Given the description of an element on the screen output the (x, y) to click on. 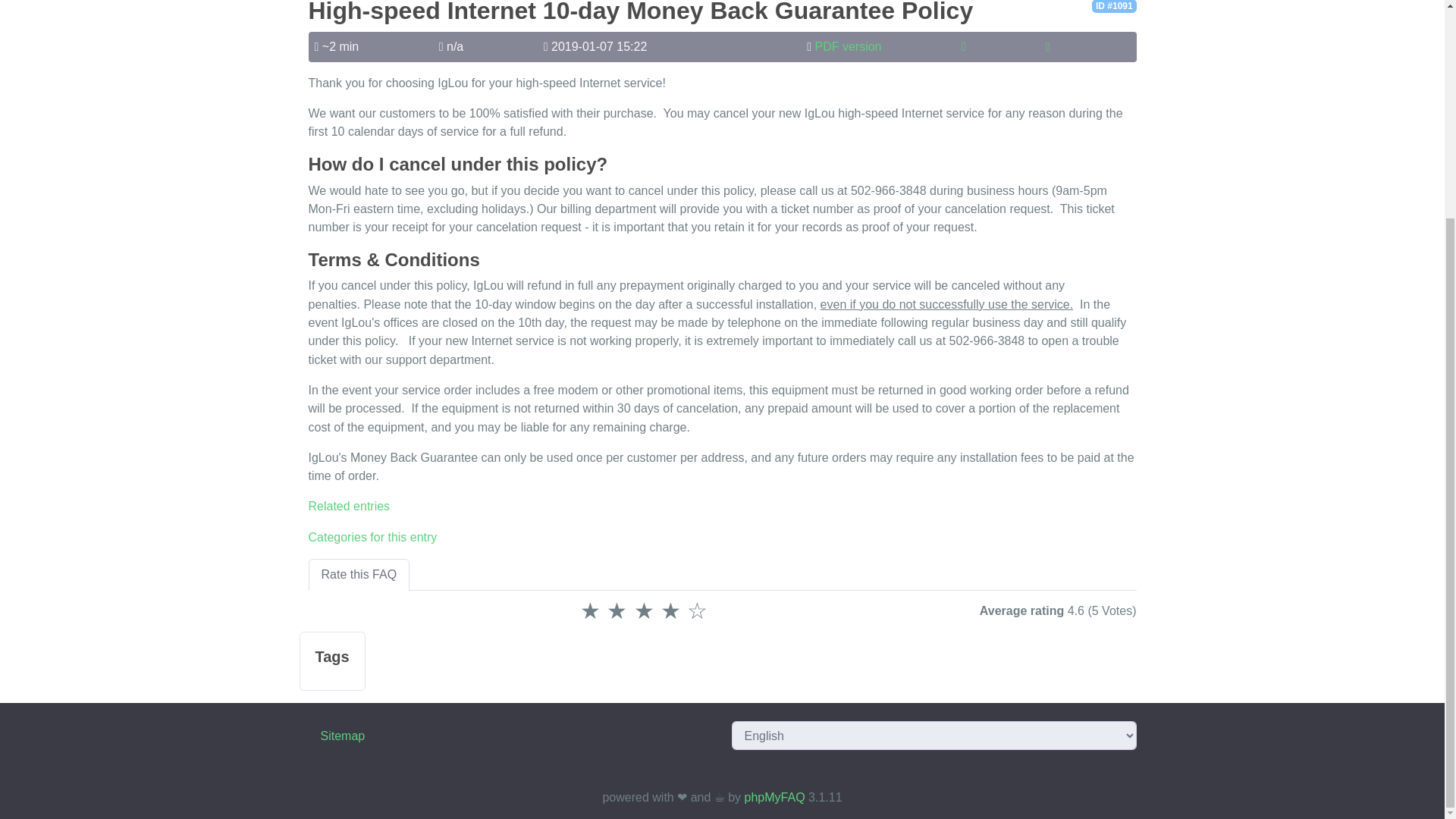
Categories for this entry (371, 536)
PDF version (846, 46)
Rate this FAQ (358, 574)
phpMyFAQ (774, 797)
Sitemap (342, 735)
PDF version (846, 46)
Related entries (348, 505)
